Given the description of an element on the screen output the (x, y) to click on. 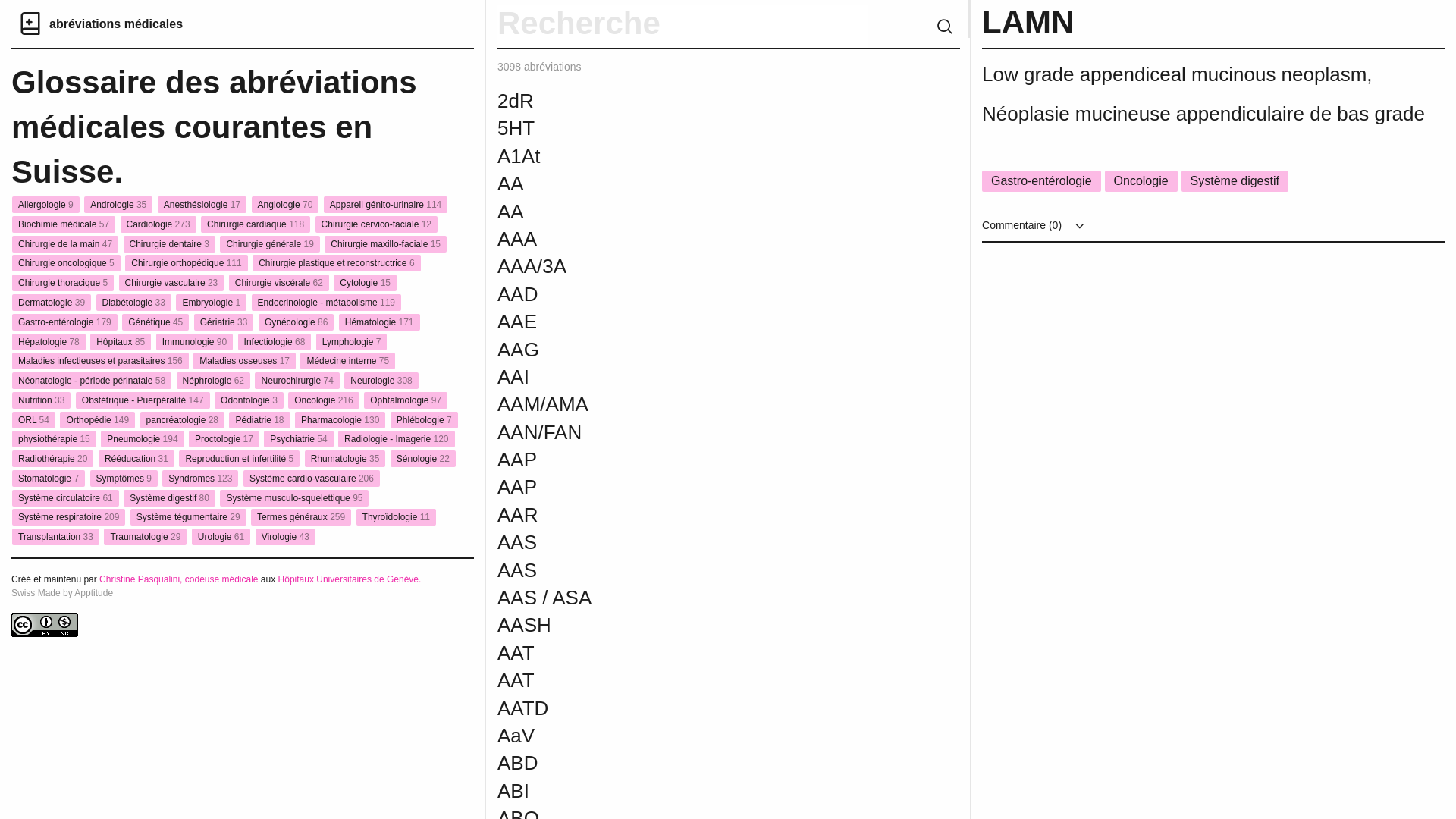
A1At Element type: text (688, 155)
Traumatologie 29 Element type: text (145, 536)
AAE Element type: text (688, 321)
Pneumologie 194 Element type: text (142, 438)
Transplantation 33 Element type: text (55, 536)
ORL 54 Element type: text (33, 420)
Chirurgie thoracique 5 Element type: text (62, 282)
AA Element type: text (688, 211)
Proctologie 17 Element type: text (224, 438)
Chirurgie de la main 47 Element type: text (65, 244)
Neurologie 308 Element type: text (380, 380)
Maladies infectieuses et parasitaires 156 Element type: text (100, 360)
AAM/AMA Element type: text (688, 403)
Dermatologie 39 Element type: text (51, 302)
Urologie 61 Element type: text (221, 536)
Immunologie 90 Element type: text (194, 341)
Chirurgie oncologique 5 Element type: text (66, 263)
Lymphologie 7 Element type: text (351, 341)
Syndromes 123 Element type: text (199, 478)
AAP Element type: text (688, 459)
Chirurgie cardiaque 118 Element type: text (255, 224)
Psychiatrie 54 Element type: text (298, 438)
AAI Element type: text (688, 376)
Angiologie 70 Element type: text (285, 204)
Andrologie 35 Element type: text (118, 204)
AAT Element type: text (688, 652)
Odontologie 3 Element type: text (248, 400)
AAR Element type: text (688, 514)
ABD Element type: text (688, 762)
Chirurgie dentaire 3 Element type: text (169, 244)
Allergologie 9 Element type: text (45, 204)
AAD Element type: text (688, 293)
Neurochirurgie 74 Element type: text (296, 380)
Maladies osseuses 17 Element type: text (244, 360)
AAN/FAN Element type: text (688, 431)
Virologie 43 Element type: text (285, 536)
Ophtalmologie 97 Element type: text (405, 400)
AAG Element type: text (688, 349)
AA Element type: text (688, 183)
Chirurgie plastique et reconstructrice 6 Element type: text (335, 263)
AAS / ASA Element type: text (688, 597)
Oncologie 216 Element type: text (323, 400)
ABI Element type: text (688, 790)
AaV Element type: text (688, 735)
Pharmacologie 130 Element type: text (339, 420)
Cytologie 15 Element type: text (364, 282)
AAS Element type: text (688, 541)
Swiss Made by Apptitude Element type: text (61, 592)
Chirurgie cervico-faciale 12 Element type: text (376, 224)
2dR Element type: text (688, 100)
AAP Element type: text (688, 486)
AASH Element type: text (688, 624)
AAS Element type: text (688, 569)
AATD Element type: text (688, 707)
AAT Element type: text (688, 679)
Stomatologie 7 Element type: text (48, 478)
Nutrition 33 Element type: text (41, 400)
Cardiologie 273 Element type: text (158, 224)
Rhumatologie 35 Element type: text (345, 458)
AAA Element type: text (688, 238)
5HT Element type: text (688, 127)
AAA/3A Element type: text (688, 265)
Chirurgie vasculaire 23 Element type: text (171, 282)
Radiologie - Imagerie 120 Element type: text (396, 438)
Infectiologie 68 Element type: text (274, 341)
Chirurgie maxillo-faciale 15 Element type: text (385, 244)
Embryologie 1 Element type: text (211, 302)
